Given the description of an element on the screen output the (x, y) to click on. 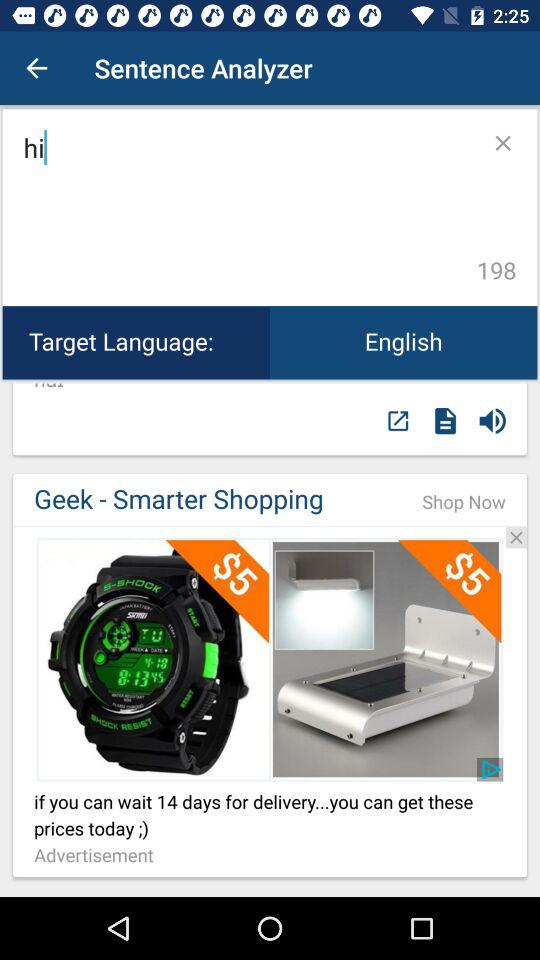
turn off the icon next to target language: icon (403, 342)
